Given the description of an element on the screen output the (x, y) to click on. 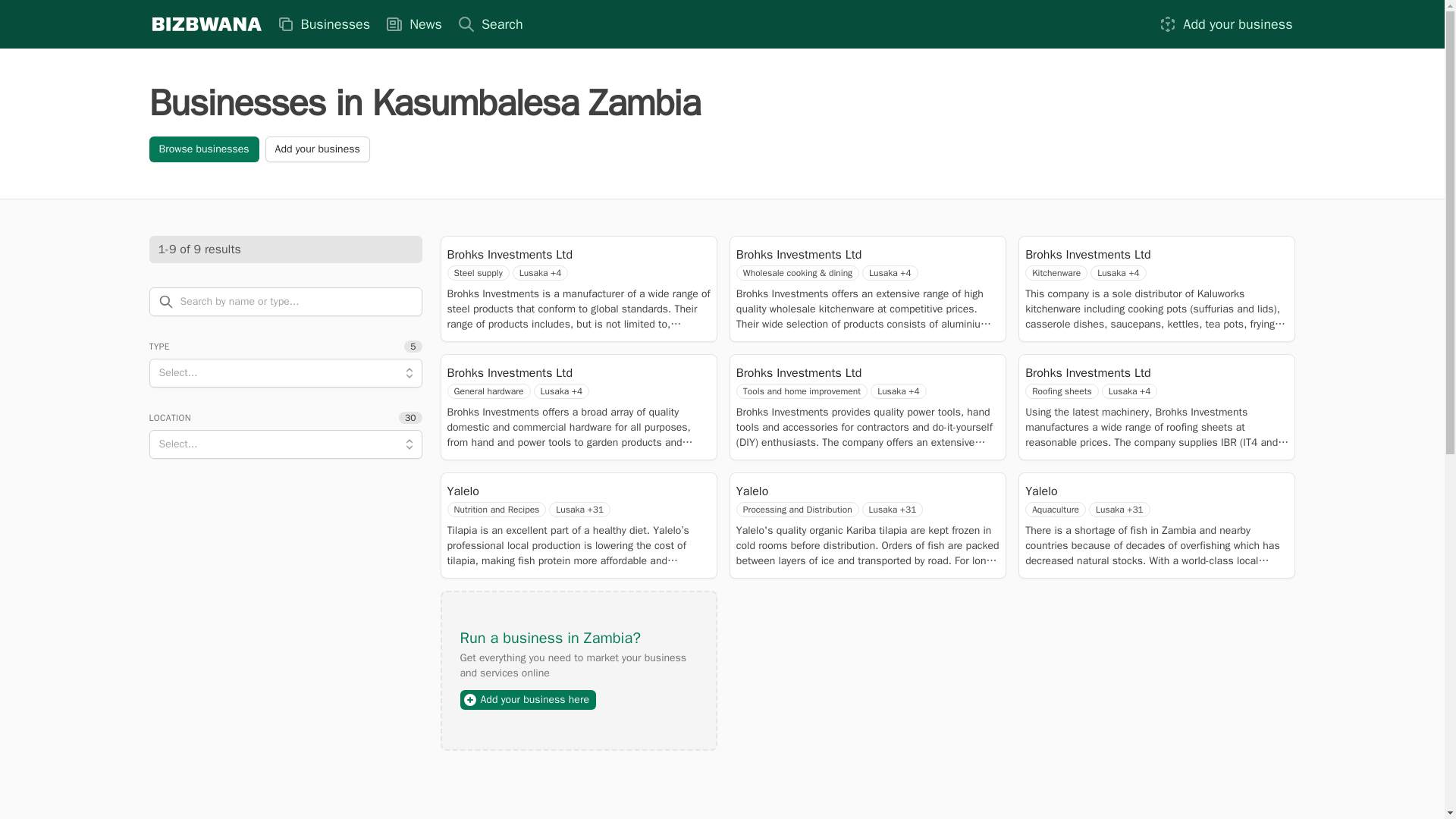
Brohks Investments Ltd (1088, 254)
Brohks Investments Ltd (509, 254)
Browse businesses (203, 149)
Select... (285, 443)
Brohks Investments Ltd (519, 372)
Add your business (316, 149)
Brohks Investments Ltd (828, 254)
Yalelo (530, 491)
Yalelo (831, 491)
Yalelo (530, 491)
Yalelo (1089, 491)
Add your business here (527, 700)
Businesses (322, 24)
Brohks Investments Ltd (833, 372)
